Given the description of an element on the screen output the (x, y) to click on. 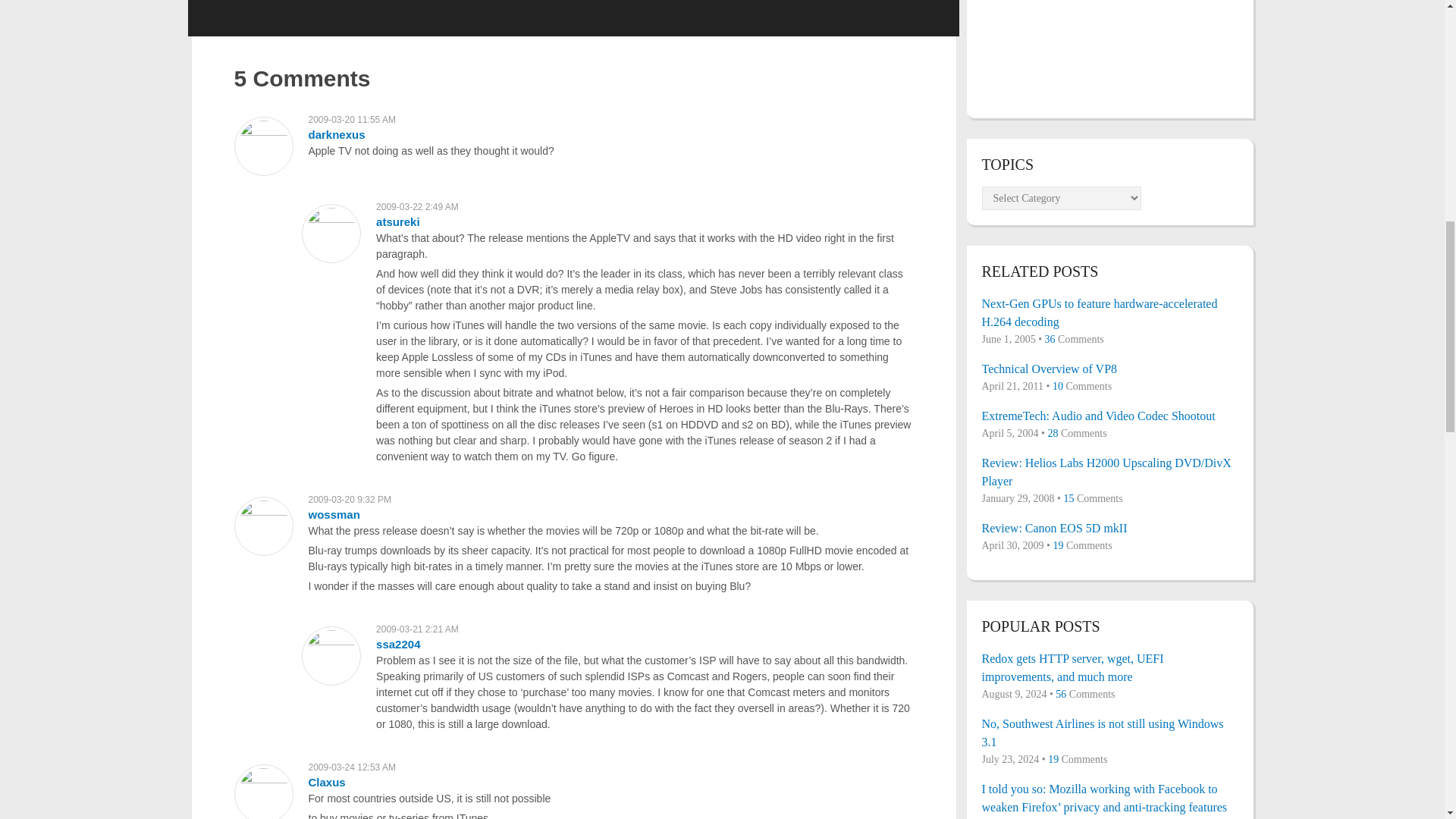
wossman (333, 513)
ssa2204 (397, 644)
Technical Overview of VP8 (1109, 369)
Next-Gen GPUs to feature hardware-accelerated H.264 decoding (1109, 312)
atsureki (397, 221)
ExtremeTech: Audio and Video Codec Shootout (1109, 416)
darknexus (336, 133)
No, Southwest Airlines is not still using Windows 3.1 (1109, 732)
Claxus (326, 781)
